Given the description of an element on the screen output the (x, y) to click on. 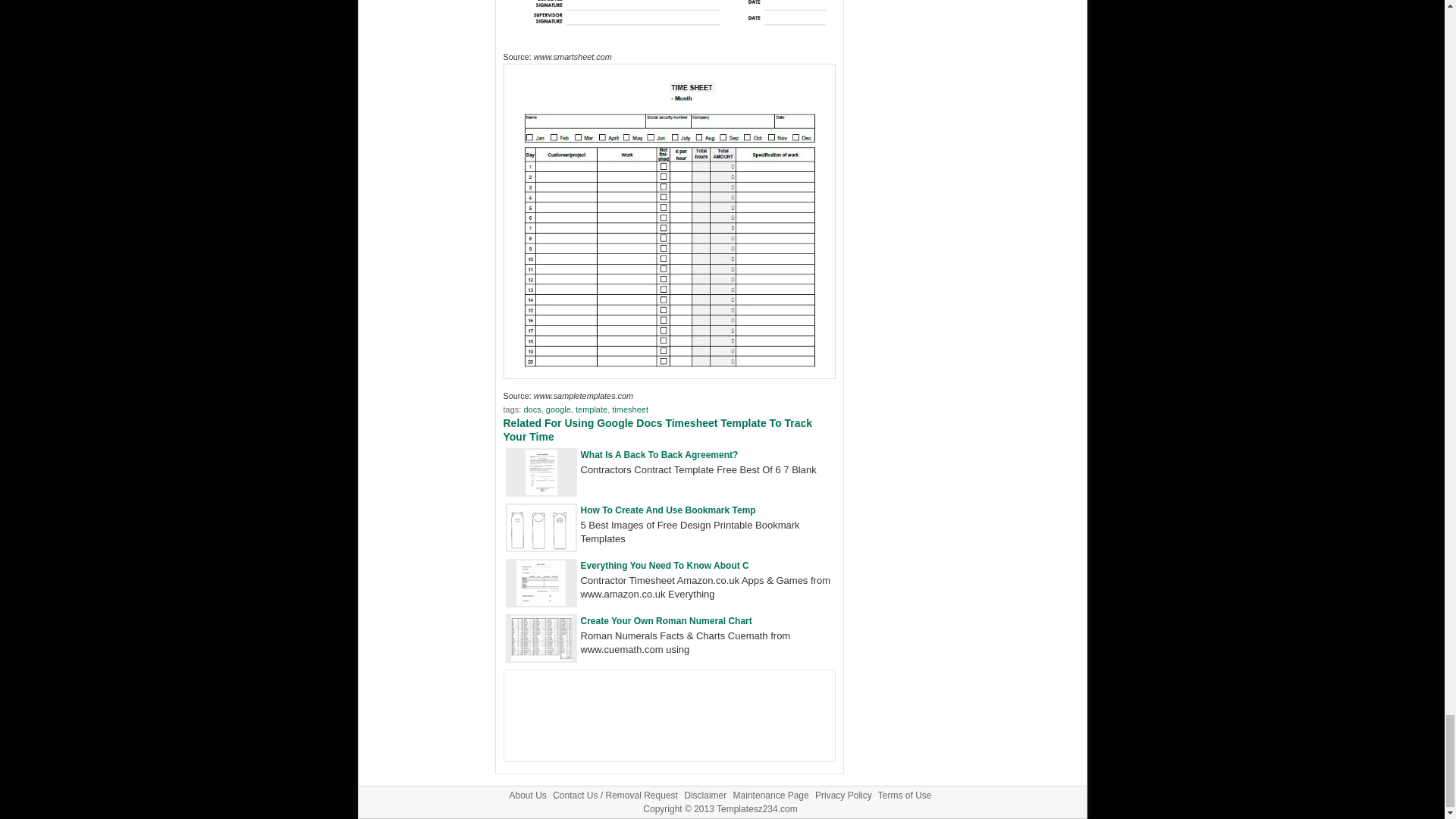
Create Your Own Roman Numeral Chart (666, 620)
Everything You Need To Know About Contractor Timesheets (664, 565)
What Is A Back To Back Agreement? (540, 491)
How To Create And Use Bookmark Temp (667, 510)
What Is A Back To Back Agreement? (659, 454)
Everything You Need To Know About Contractor Timesheets (541, 602)
google (558, 409)
template (591, 409)
Create Your Own Roman Numeral Chart Template (541, 657)
How To Create And Use Bookmark Templates In 2023 (540, 546)
How To Create And Use Bookmark Templates In 2023 (667, 510)
timesheet (629, 409)
Create Your Own Roman Numeral Chart Template (666, 620)
Everything You Need To Know About C (664, 565)
docs (531, 409)
